Given the description of an element on the screen output the (x, y) to click on. 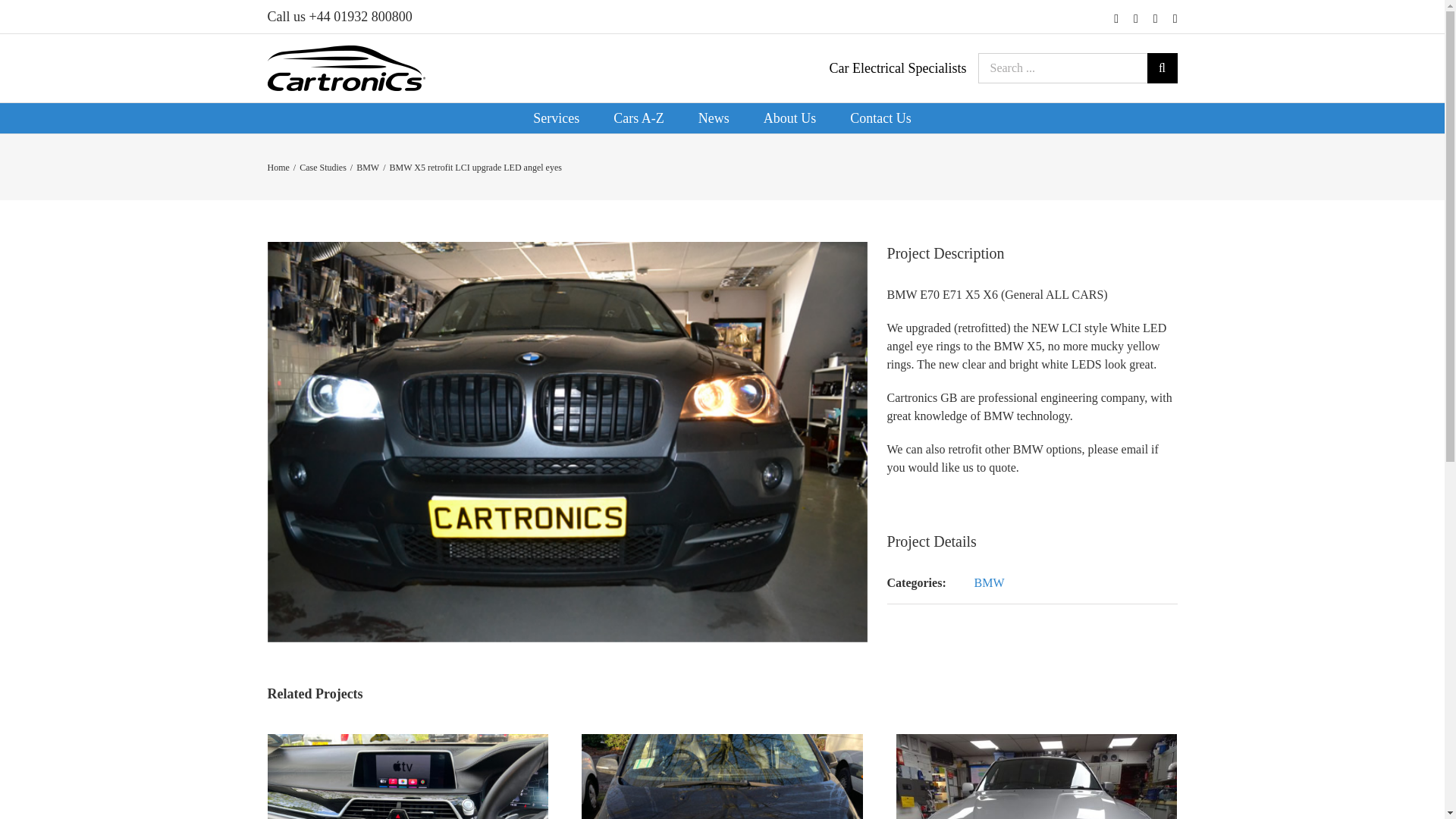
Cars A-Z (638, 118)
Instagram (1175, 19)
Facebook (1115, 19)
YouTube (1155, 19)
Facebook (1115, 19)
X (1136, 19)
Services (556, 118)
Instagram (1175, 19)
YouTube (1155, 19)
X (1136, 19)
